Given the description of an element on the screen output the (x, y) to click on. 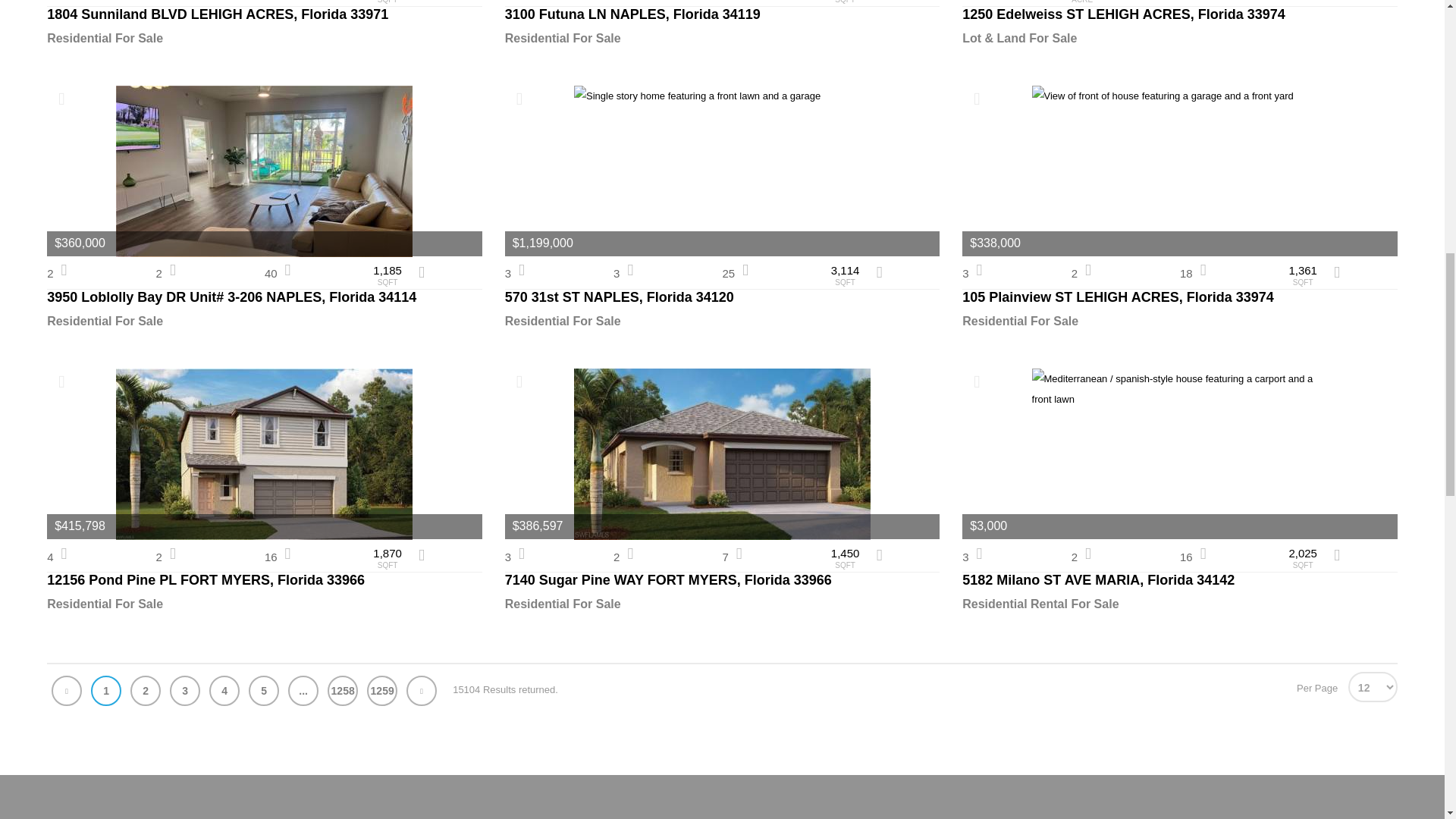
Residential For Sale (263, 38)
